Given the description of an element on the screen output the (x, y) to click on. 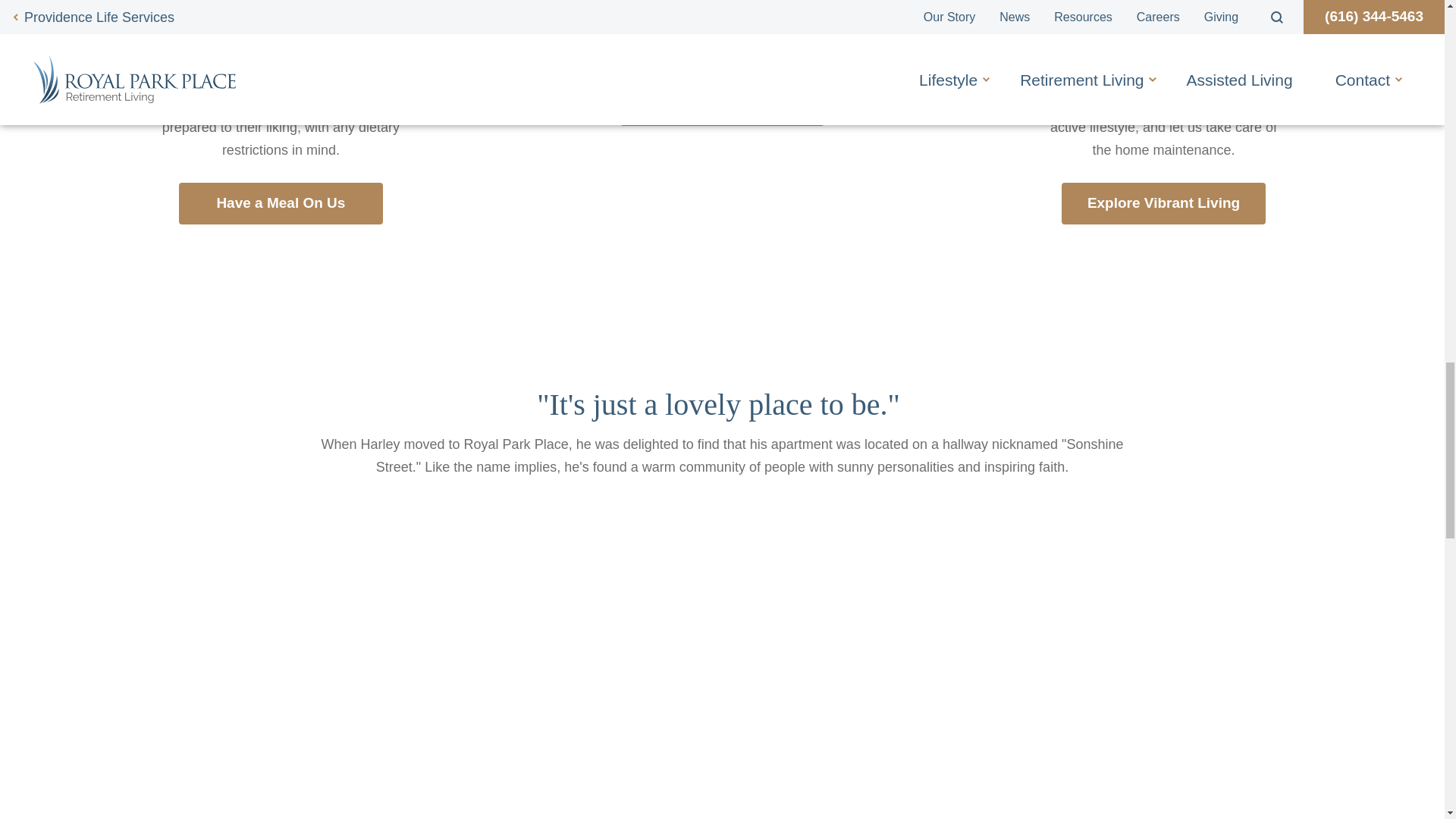
YouTube Video 13167 (721, 682)
